Given the description of an element on the screen output the (x, y) to click on. 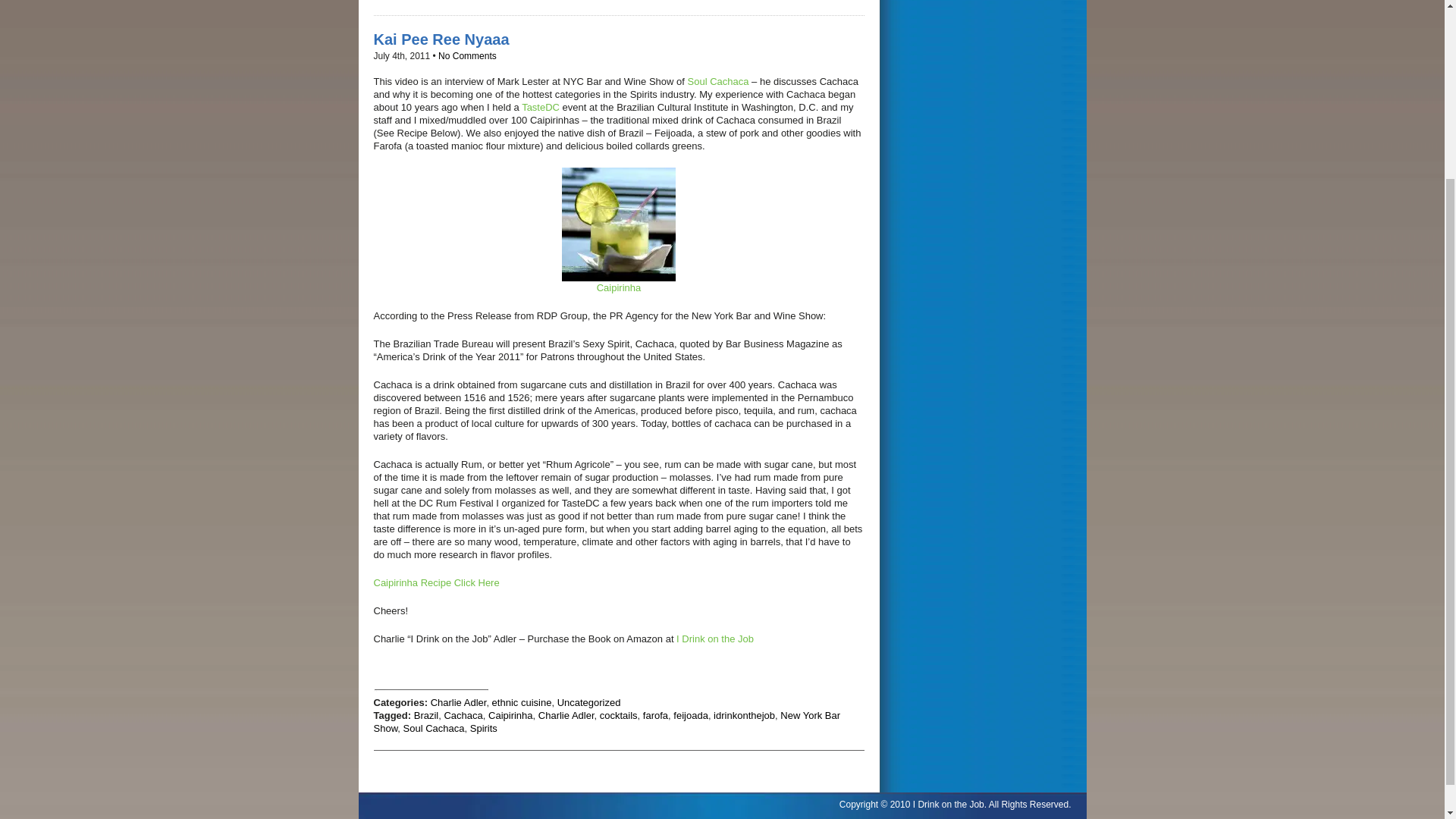
cocktails (618, 715)
Permanent Link to Kai Pee Ree Nyaaa (440, 39)
Uncategorized (589, 702)
Charlie Adler (458, 702)
New York Bar Show (606, 721)
idrinkonthejob (743, 715)
Spirits (483, 727)
feijoada (689, 715)
Caipirinha Recipe Click Here (435, 582)
Caipirinha (617, 230)
TasteDC (540, 107)
farofa (655, 715)
Soul Cachaca (433, 727)
Kai Pee Ree Nyaaa (440, 39)
Soul Cachaca (718, 81)
